Given the description of an element on the screen output the (x, y) to click on. 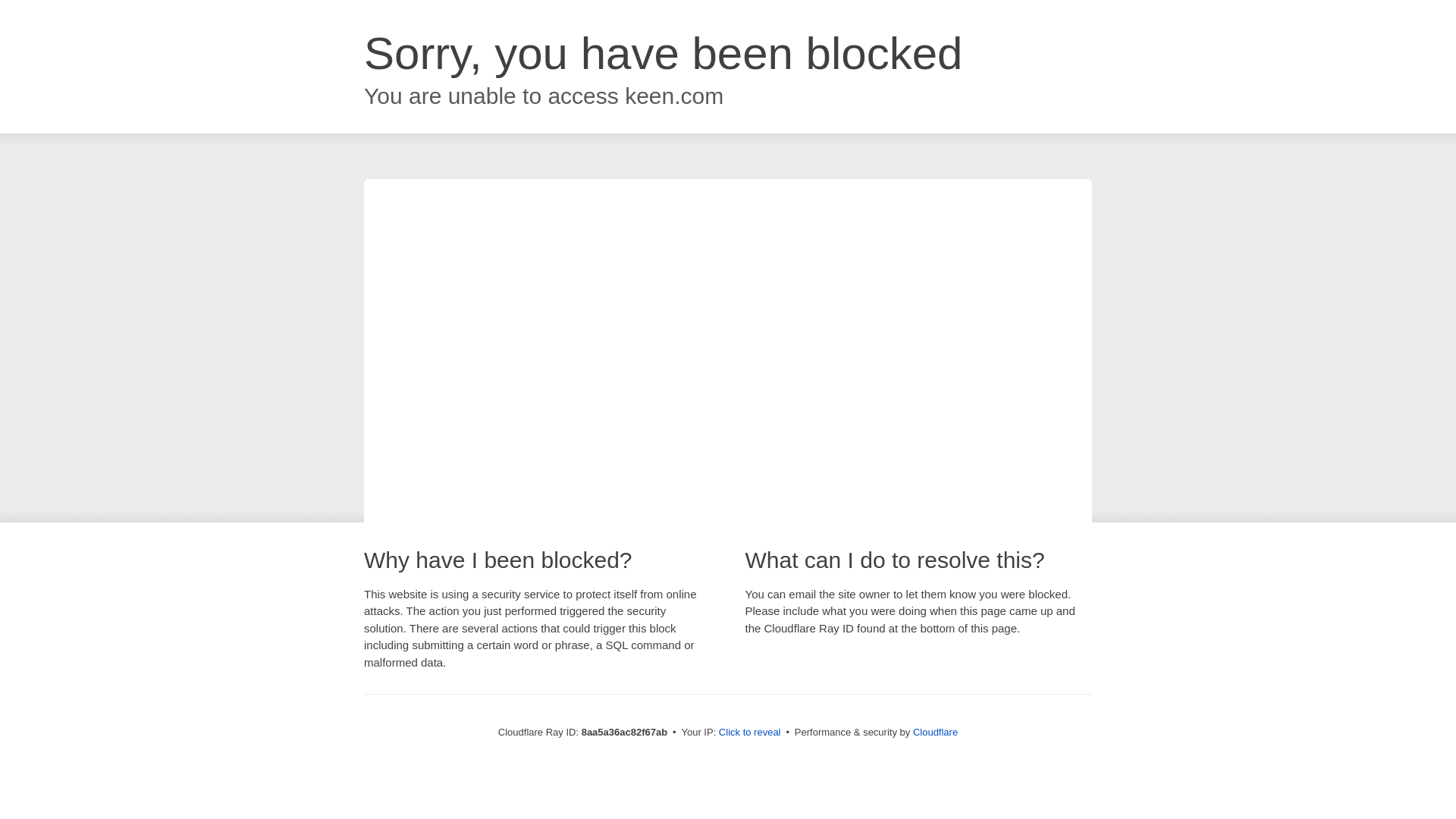
Click to reveal (749, 732)
Cloudflare (935, 731)
